Given the description of an element on the screen output the (x, y) to click on. 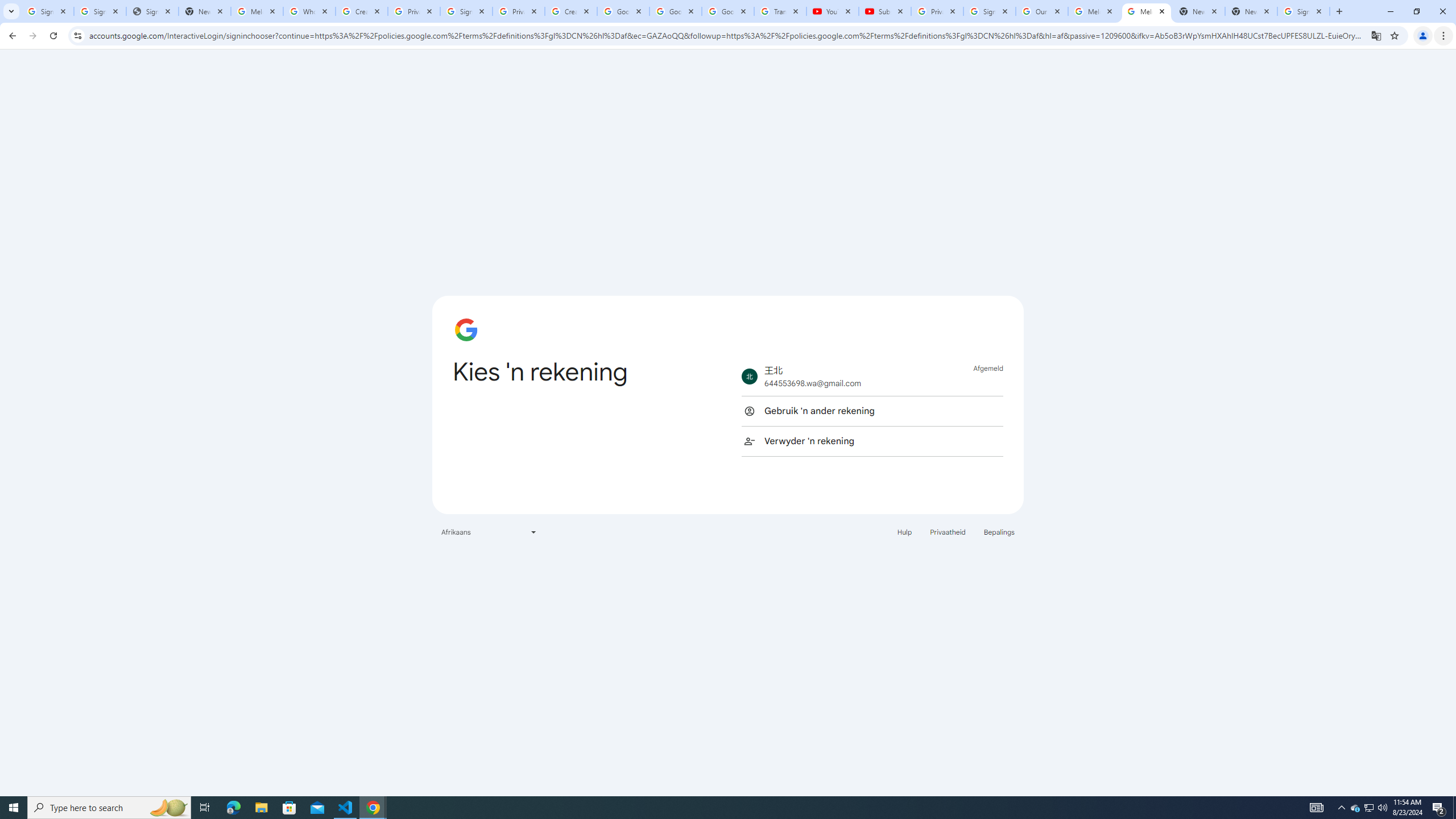
Verwyder 'n rekening (871, 440)
Create your Google Account (571, 11)
Who is my administrator? - Google Account Help (309, 11)
Sign in - Google Accounts (989, 11)
Sign in - Google Accounts (47, 11)
Privaatheid (947, 531)
